Given the description of an element on the screen output the (x, y) to click on. 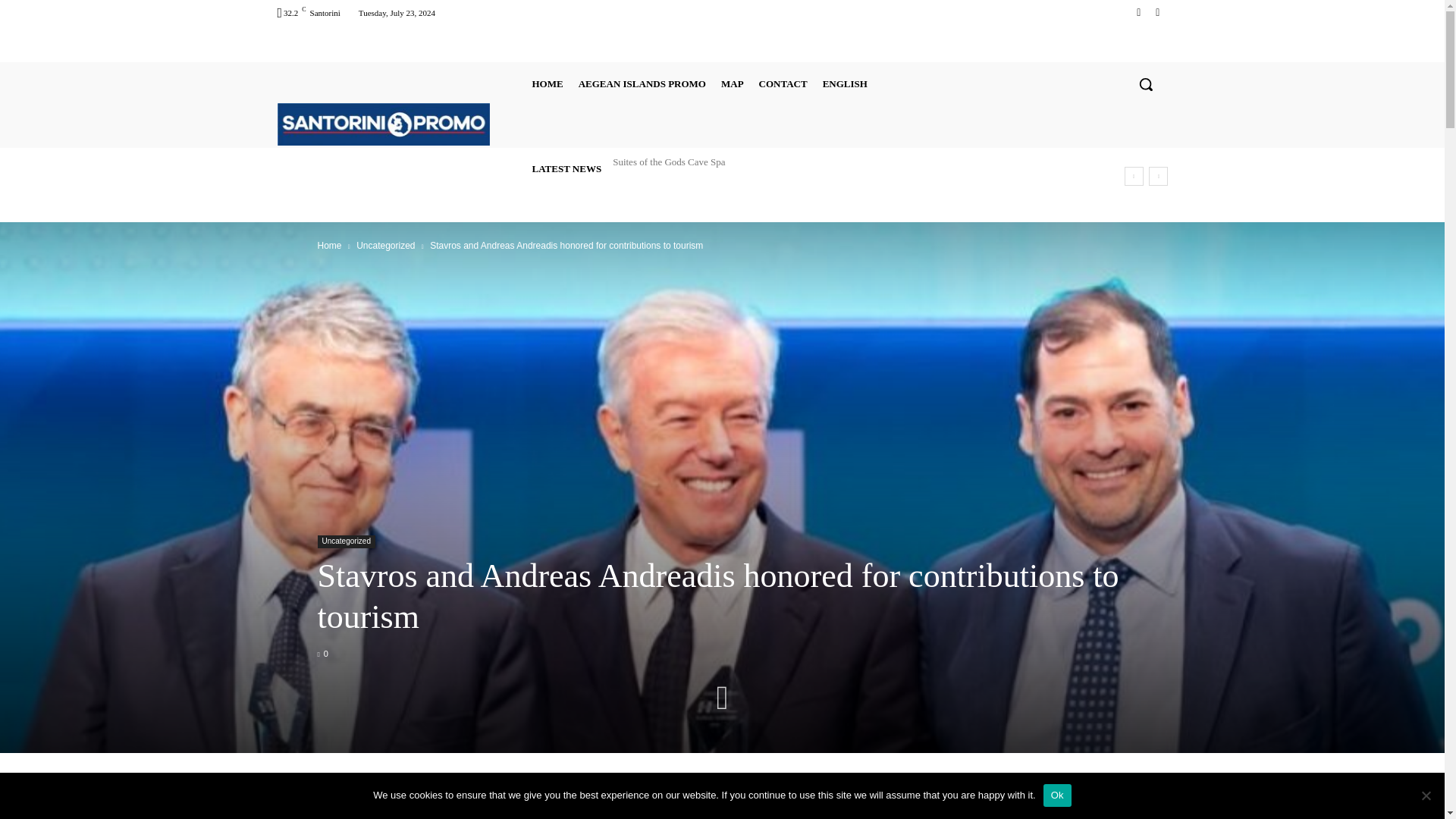
ENGLISH (844, 83)
Youtube (1157, 12)
AEGEAN ISLANDS PROMO (641, 83)
Suites of the Gods Cave Spa (668, 161)
HOME (547, 83)
CONTACT (782, 83)
English (844, 83)
Home (328, 245)
MAP (731, 83)
Instagram (1138, 12)
